Given the description of an element on the screen output the (x, y) to click on. 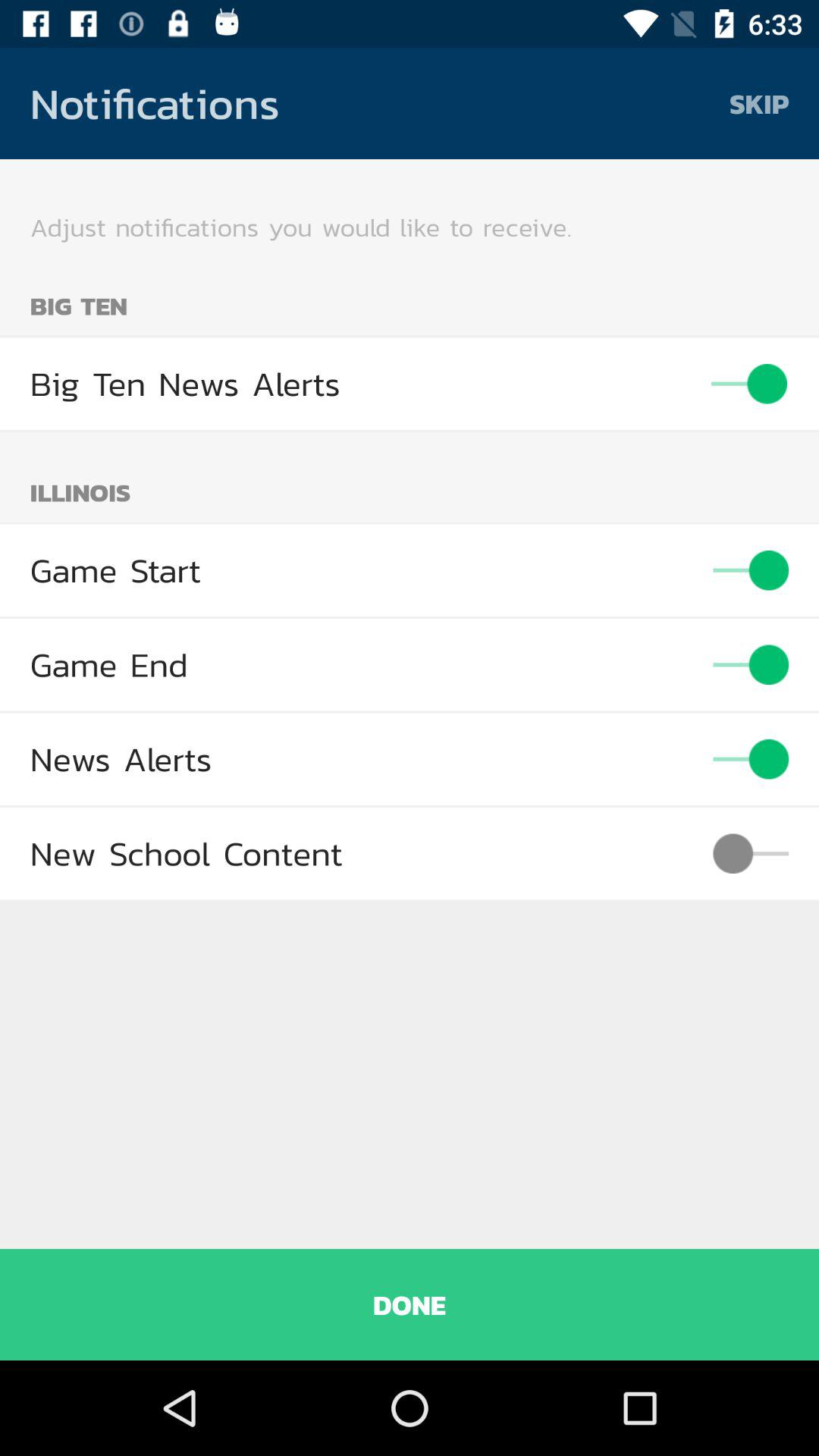
launch the item to the right of the notifications item (758, 103)
